Given the description of an element on the screen output the (x, y) to click on. 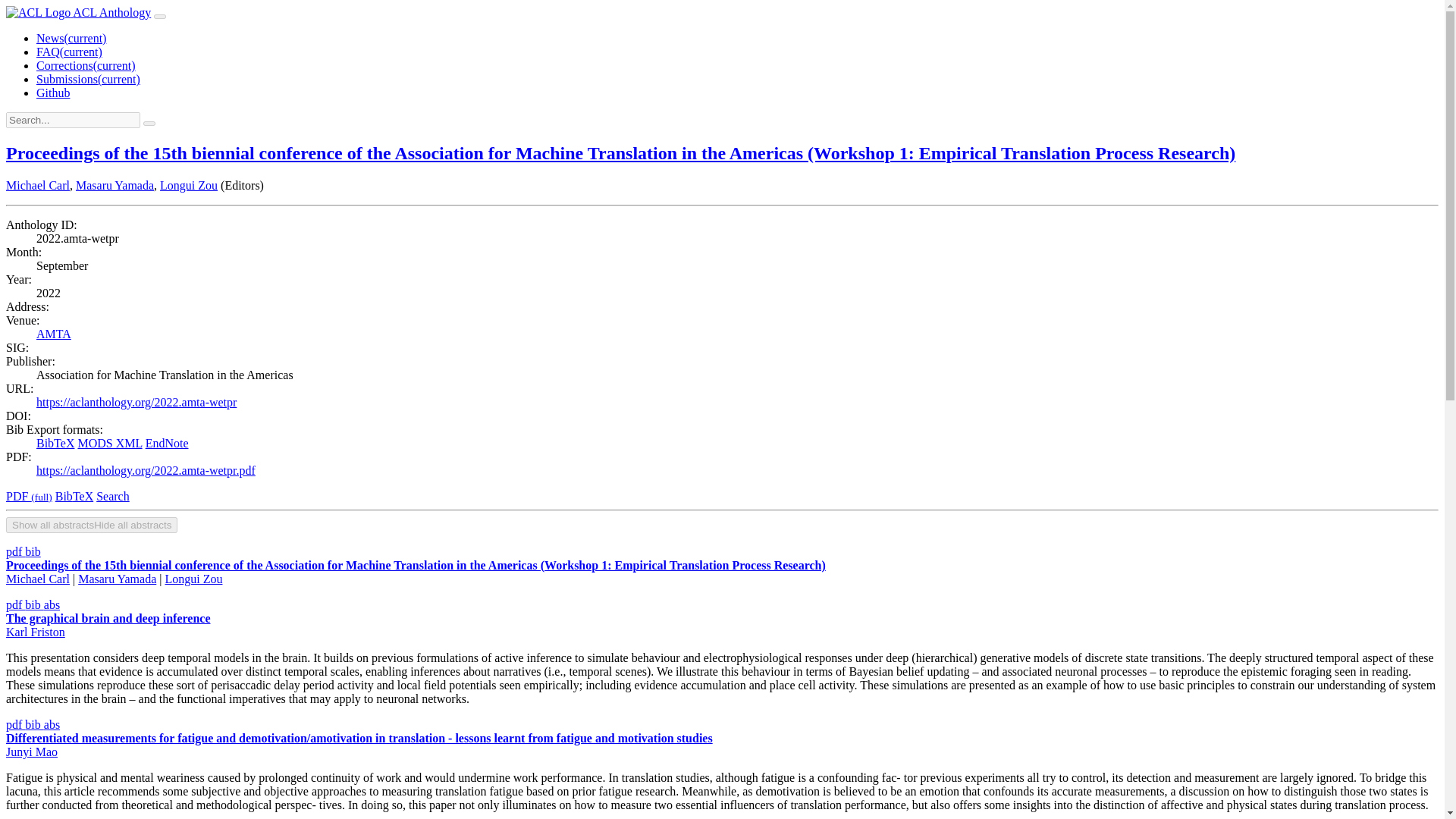
Export to BibTeX (32, 551)
EndNote (167, 442)
abs (51, 724)
Karl Friston (35, 631)
Masaru Yamada (114, 185)
Longui Zou (193, 578)
pdf (14, 551)
Michael Carl (37, 578)
Open PDF (14, 724)
Show Abstract (51, 724)
abs (51, 604)
bib (33, 724)
BibTeX (55, 442)
bib (32, 551)
Open PDF (14, 604)
